Given the description of an element on the screen output the (x, y) to click on. 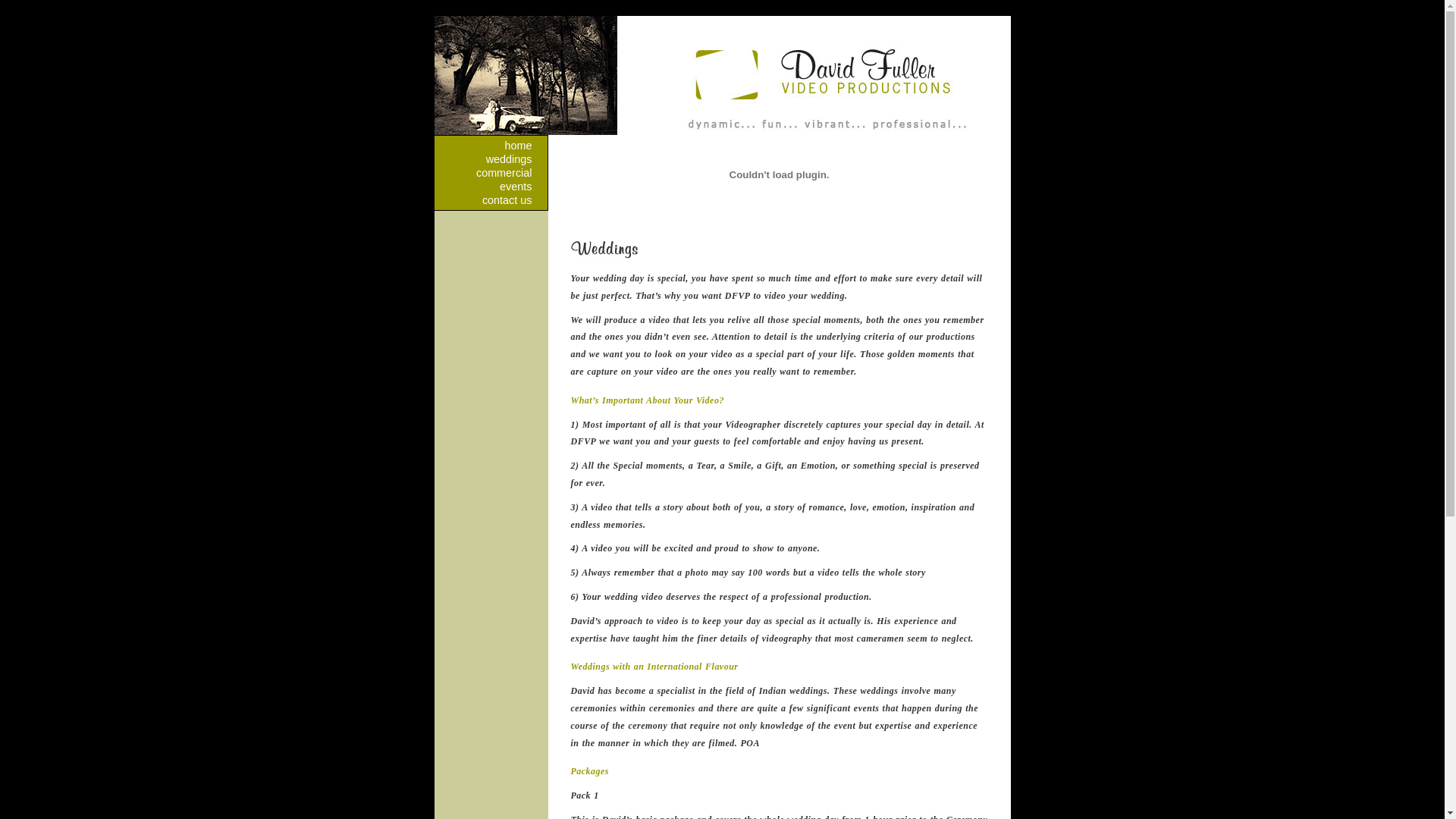
home Element type: text (489, 145)
commercial Element type: text (489, 172)
weddings Element type: text (489, 159)
contact us Element type: text (489, 200)
David Fuller Coomercial Photography Element type: hover (778, 174)
events Element type: text (489, 186)
